Given the description of an element on the screen output the (x, y) to click on. 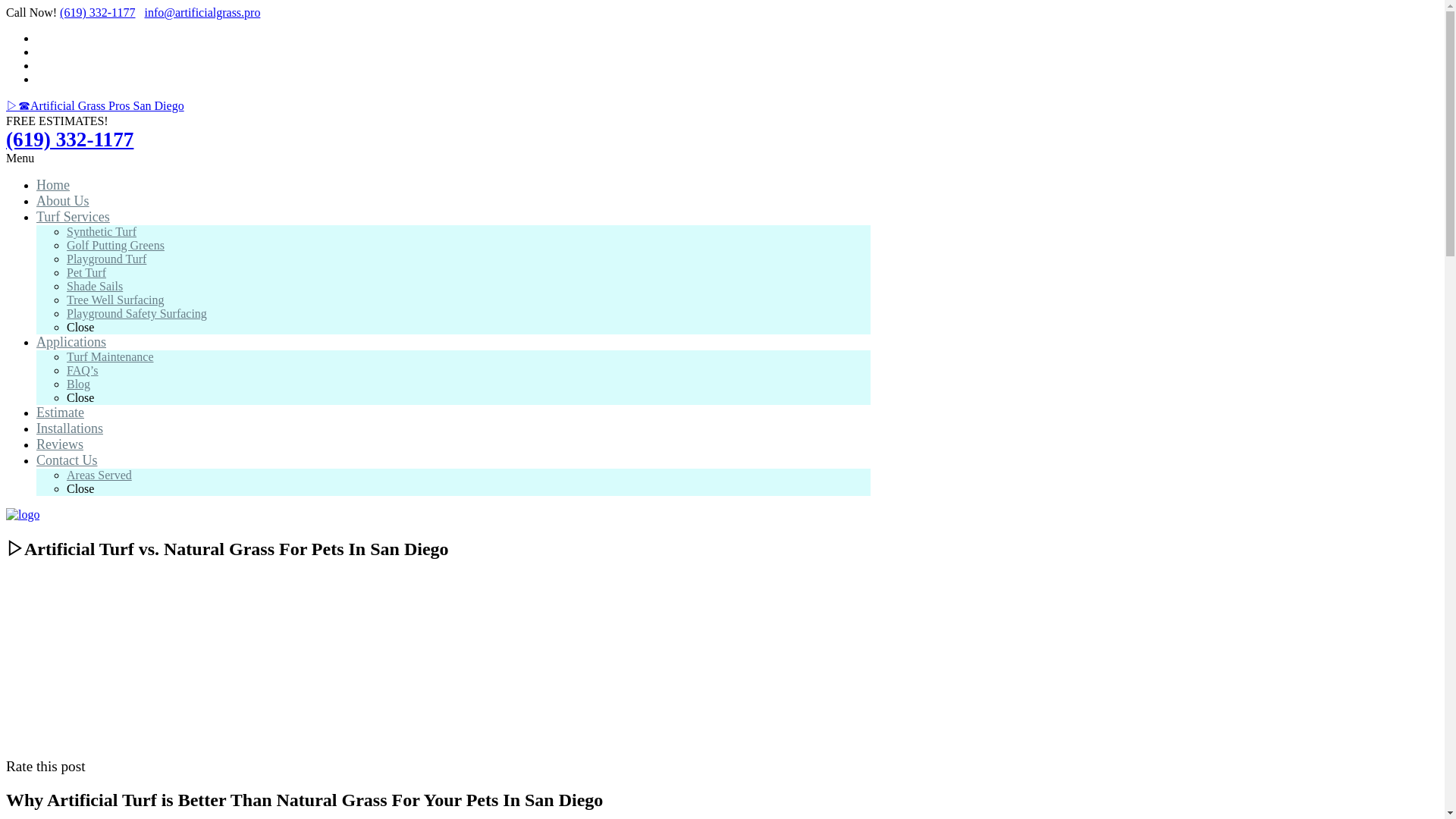
Shade Sails (94, 286)
Blog (78, 383)
Playground Turf (106, 258)
Turf Services (73, 216)
Reviews (59, 444)
Synthetic Turf (101, 231)
Golf Putting Greens (115, 245)
Playground Safety Surfacing (136, 313)
Estimate (60, 412)
About Us (62, 200)
Menu (19, 157)
Areas Served (99, 474)
Contact Us (66, 459)
Tree Well Surfacing (114, 299)
Installations (69, 427)
